Given the description of an element on the screen output the (x, y) to click on. 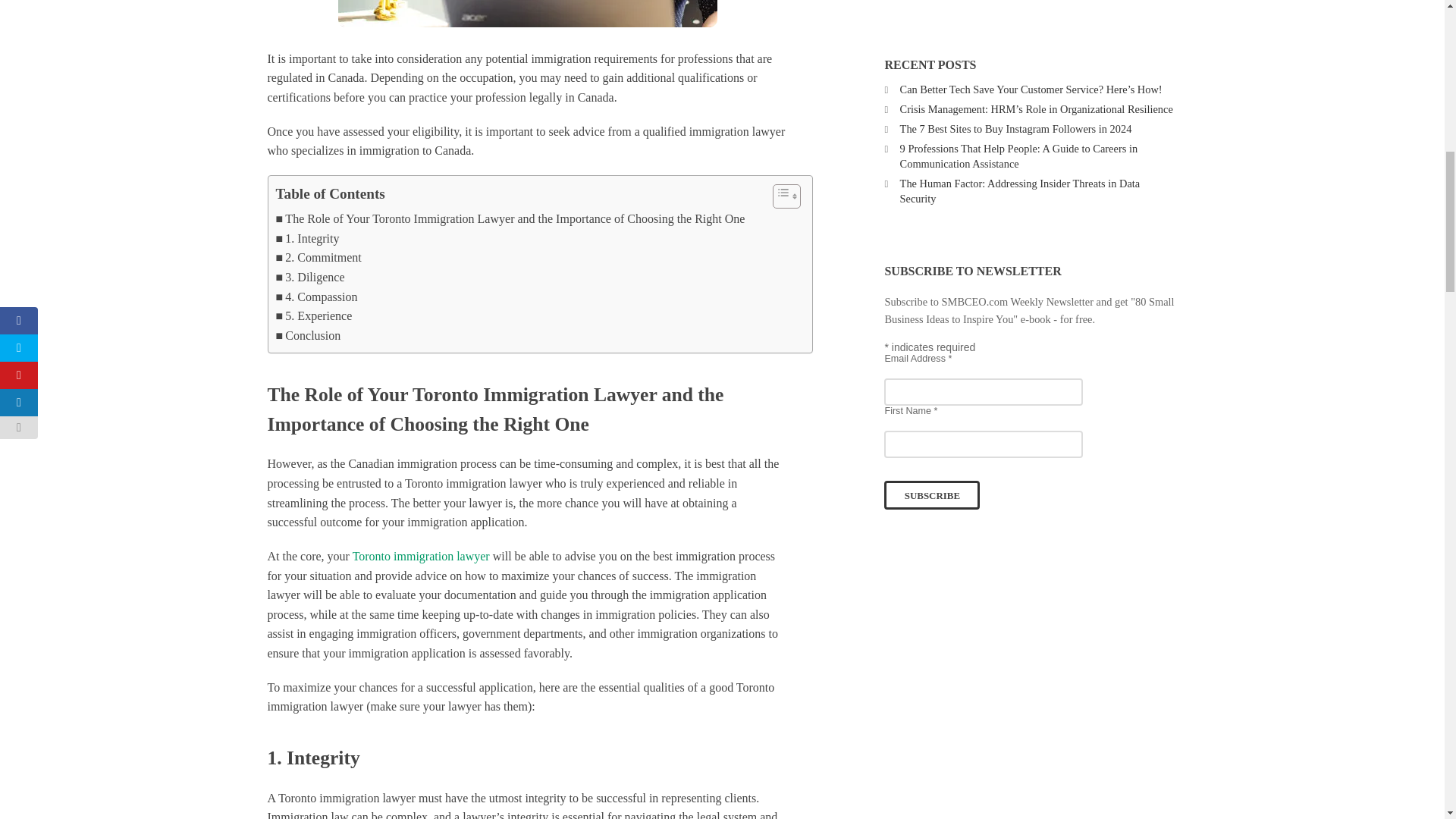
2. Commitment (318, 257)
2. Commitment (318, 257)
Toronto immigration lawyer (420, 555)
5. Experience (314, 315)
Subscribe (931, 494)
4. Compassion (317, 297)
1. Integrity (307, 238)
4. Compassion (317, 297)
Conclusion (308, 335)
3. Diligence (310, 277)
1. Integrity (307, 238)
3. Diligence (310, 277)
5. Experience (314, 315)
